Given the description of an element on the screen output the (x, y) to click on. 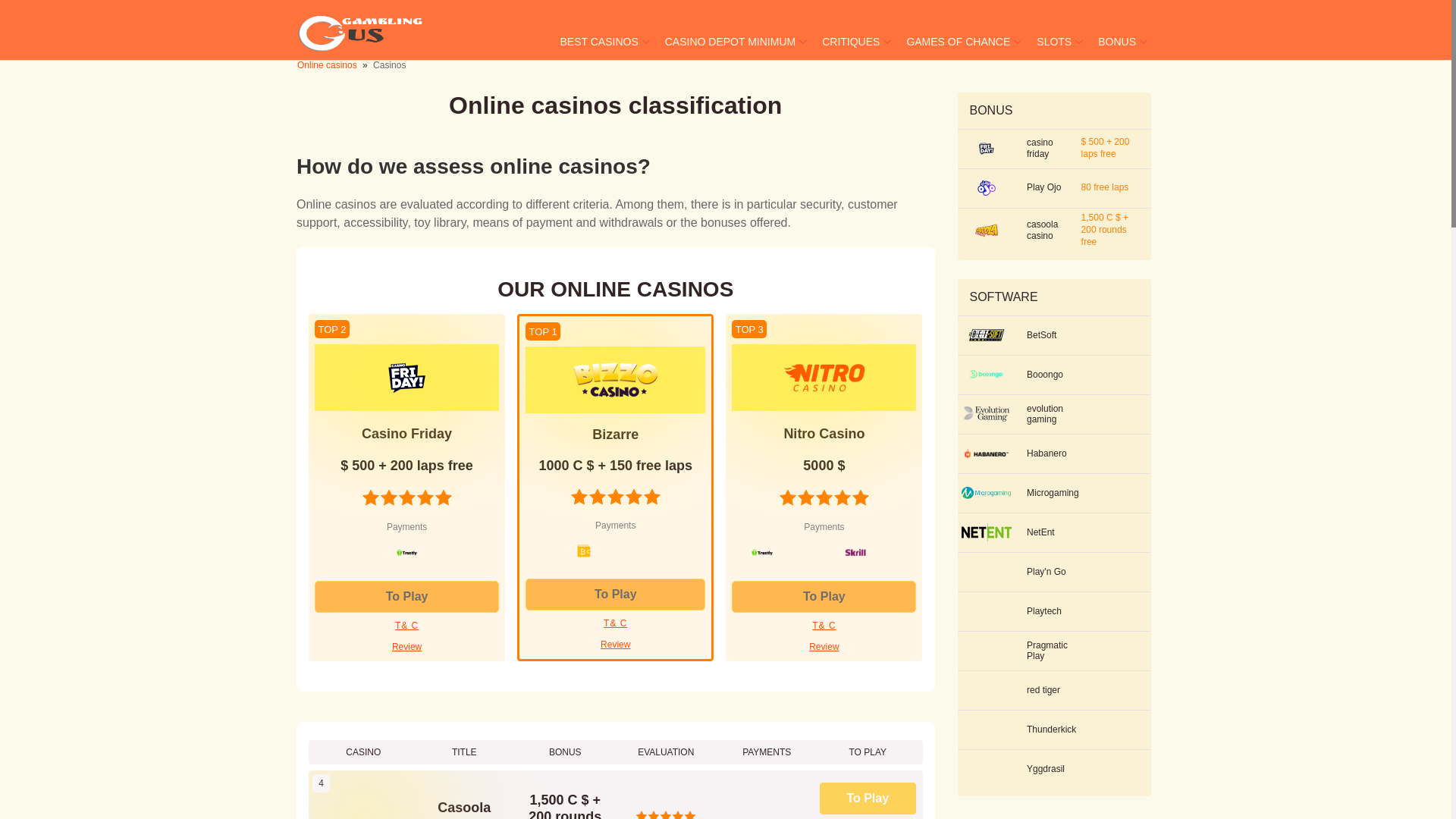
CASINO DEPOT MINIMUM (729, 41)
BEST CASINOS (599, 41)
GAMES OF CHANCE (957, 41)
SLOTS (1053, 41)
